Given the description of an element on the screen output the (x, y) to click on. 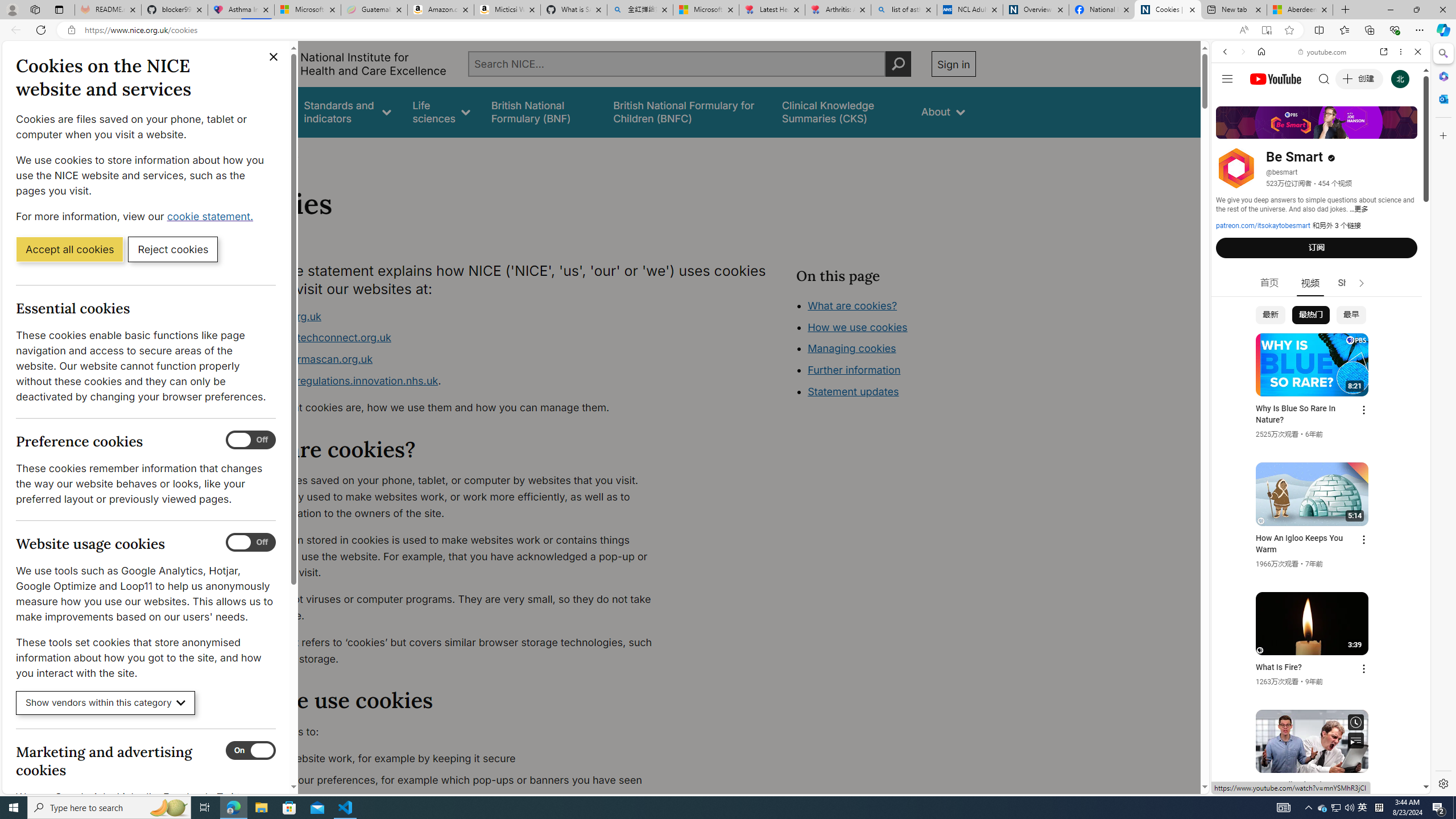
make our website work, for example by keeping it secure (452, 759)
cookie statement. (Opens in a new window) (211, 215)
Preference cookies (250, 439)
How we use cookies (857, 327)
YouTube (1315, 655)
Accept all cookies (69, 248)
Guidance (260, 111)
